Given the description of an element on the screen output the (x, y) to click on. 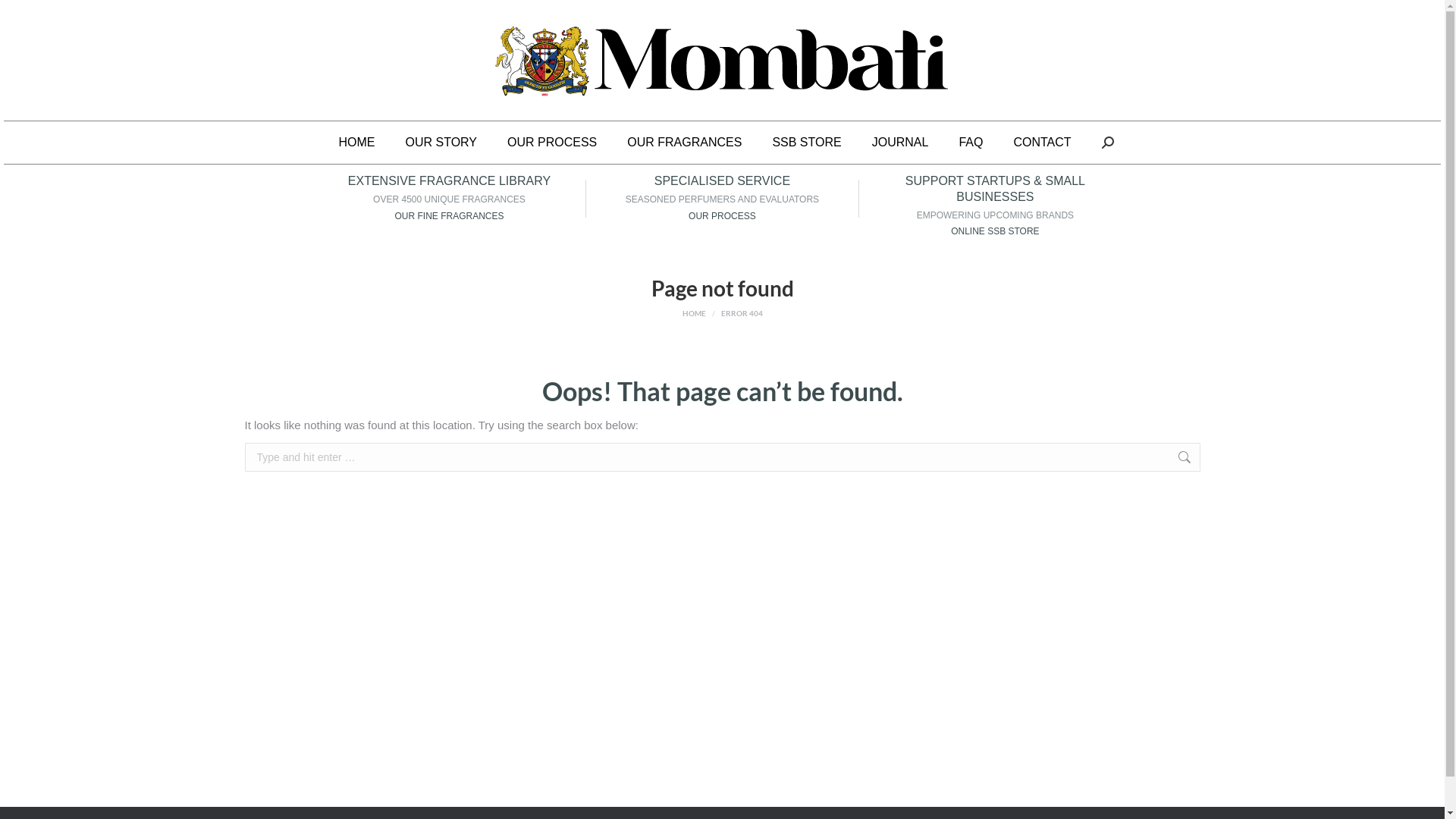
ONLINE SSB STORE Element type: text (994, 231)
OUR FRAGRANCES Element type: text (684, 142)
OUR FINE FRAGRANCES Element type: text (448, 215)
JOURNAL Element type: text (900, 142)
CONTACT Element type: text (1041, 142)
HOME Element type: text (356, 142)
HOME Element type: text (694, 312)
FAQ Element type: text (970, 142)
Go! Element type: text (23, 16)
SSB STORE Element type: text (806, 142)
Go! Element type: text (1223, 459)
OUR PROCESS Element type: text (721, 215)
OUR PROCESS Element type: text (551, 142)
OUR STORY Element type: text (440, 142)
